Given the description of an element on the screen output the (x, y) to click on. 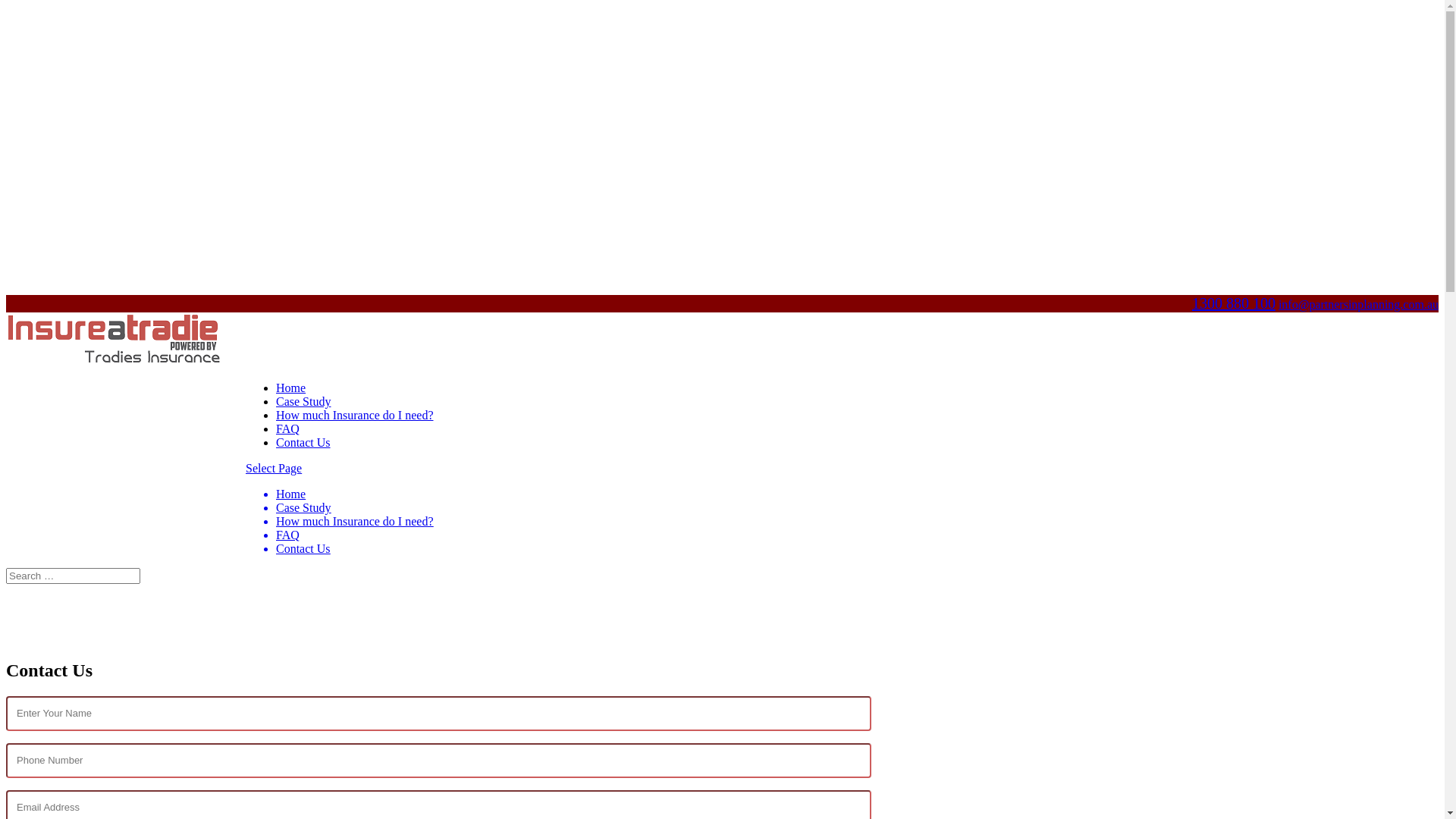
Case Study Element type: text (303, 507)
1300 880 100 Element type: text (1233, 302)
How much Insurance do I need? Element type: text (354, 520)
Contact Us Element type: text (303, 442)
Home Element type: text (290, 387)
Home Element type: text (290, 493)
FAQ Element type: text (287, 428)
How much Insurance do I need? Element type: text (354, 414)
Contact Us Element type: text (303, 548)
Search for: Element type: hover (73, 575)
Case Study Element type: text (303, 401)
FAQ Element type: text (287, 534)
info@partnersinplanning.com.au Element type: text (1358, 304)
